Given the description of an element on the screen output the (x, y) to click on. 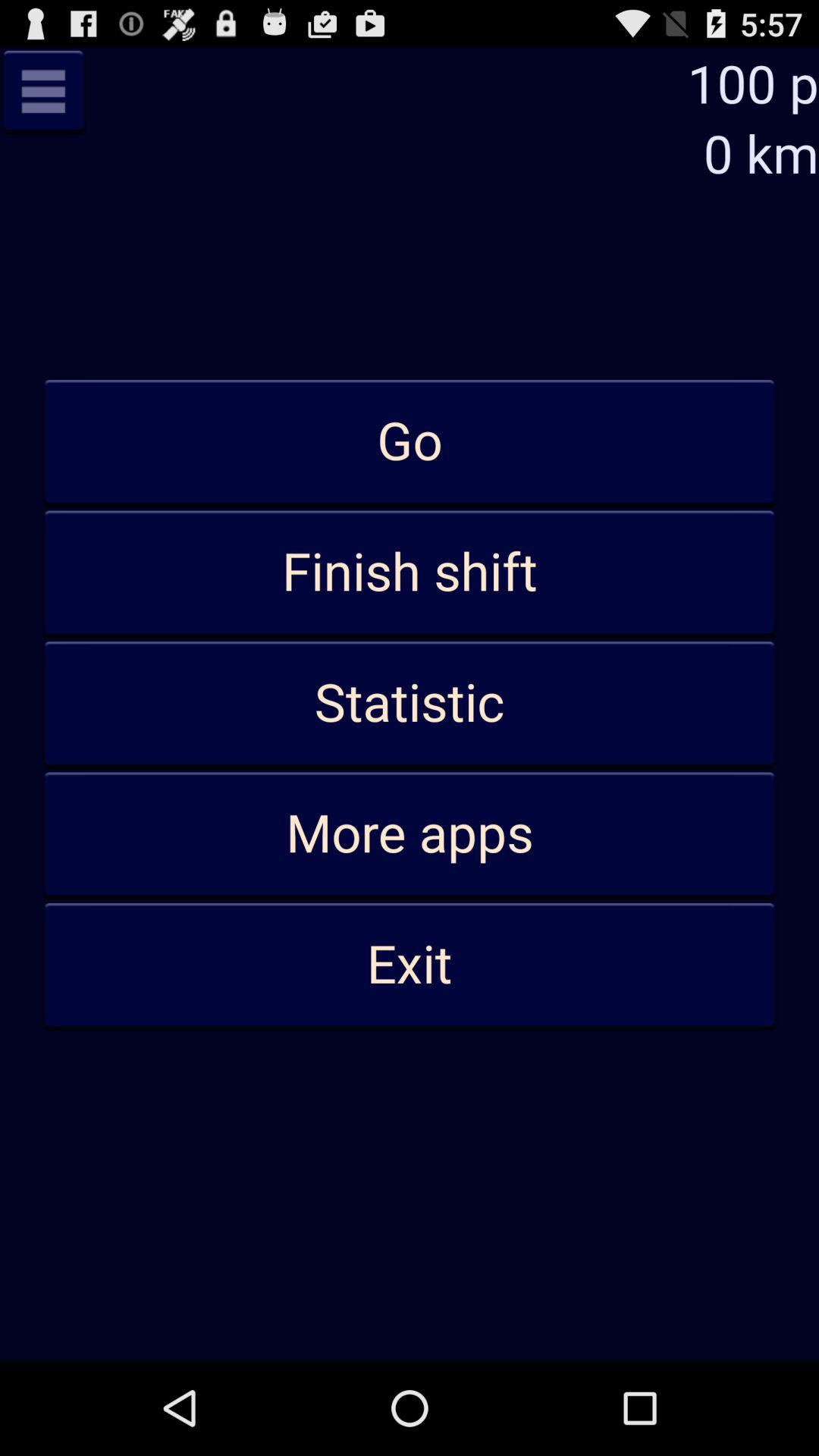
choose icon above the statistic item (409, 572)
